Given the description of an element on the screen output the (x, y) to click on. 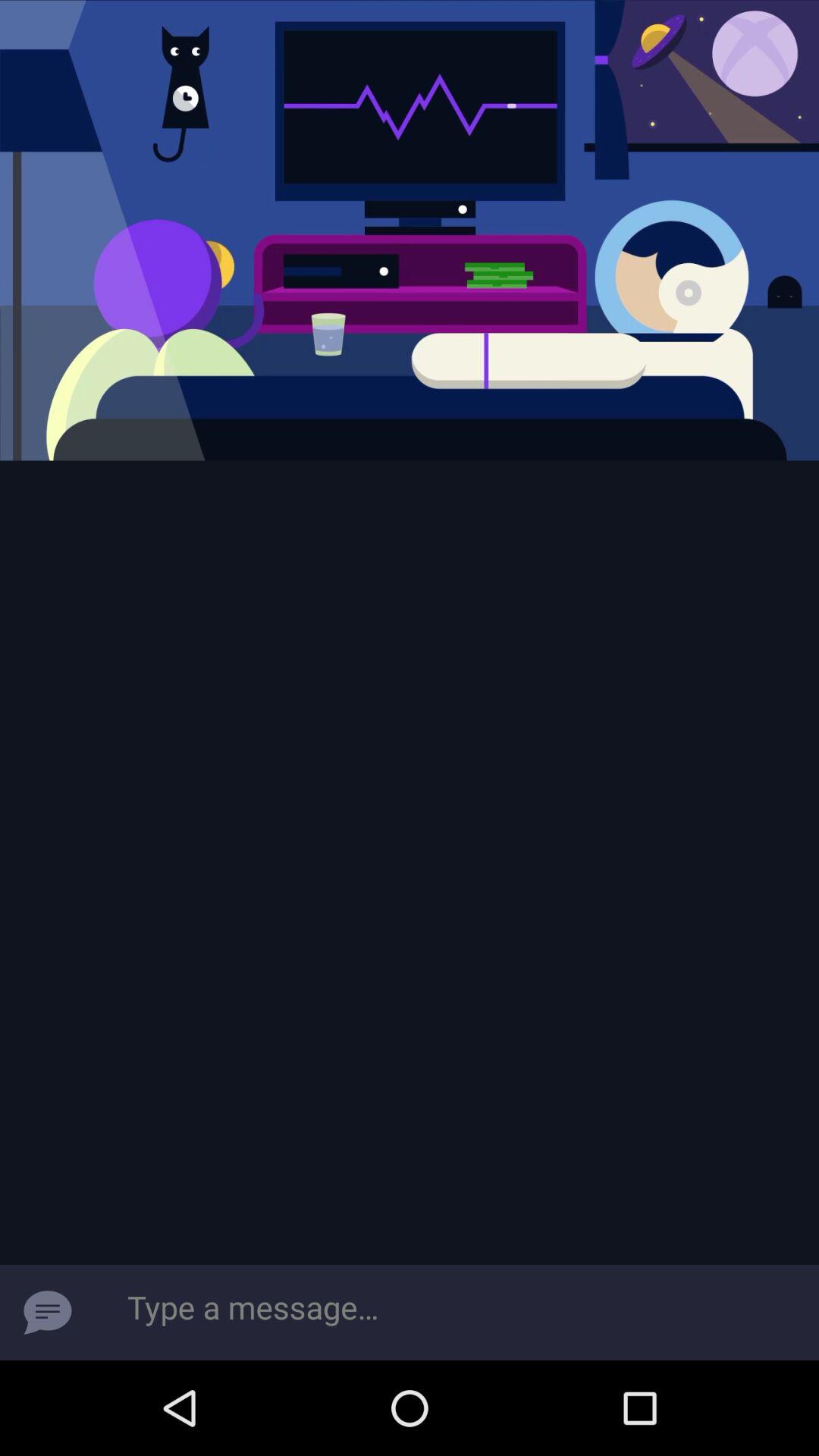
type message (457, 1312)
